Given the description of an element on the screen output the (x, y) to click on. 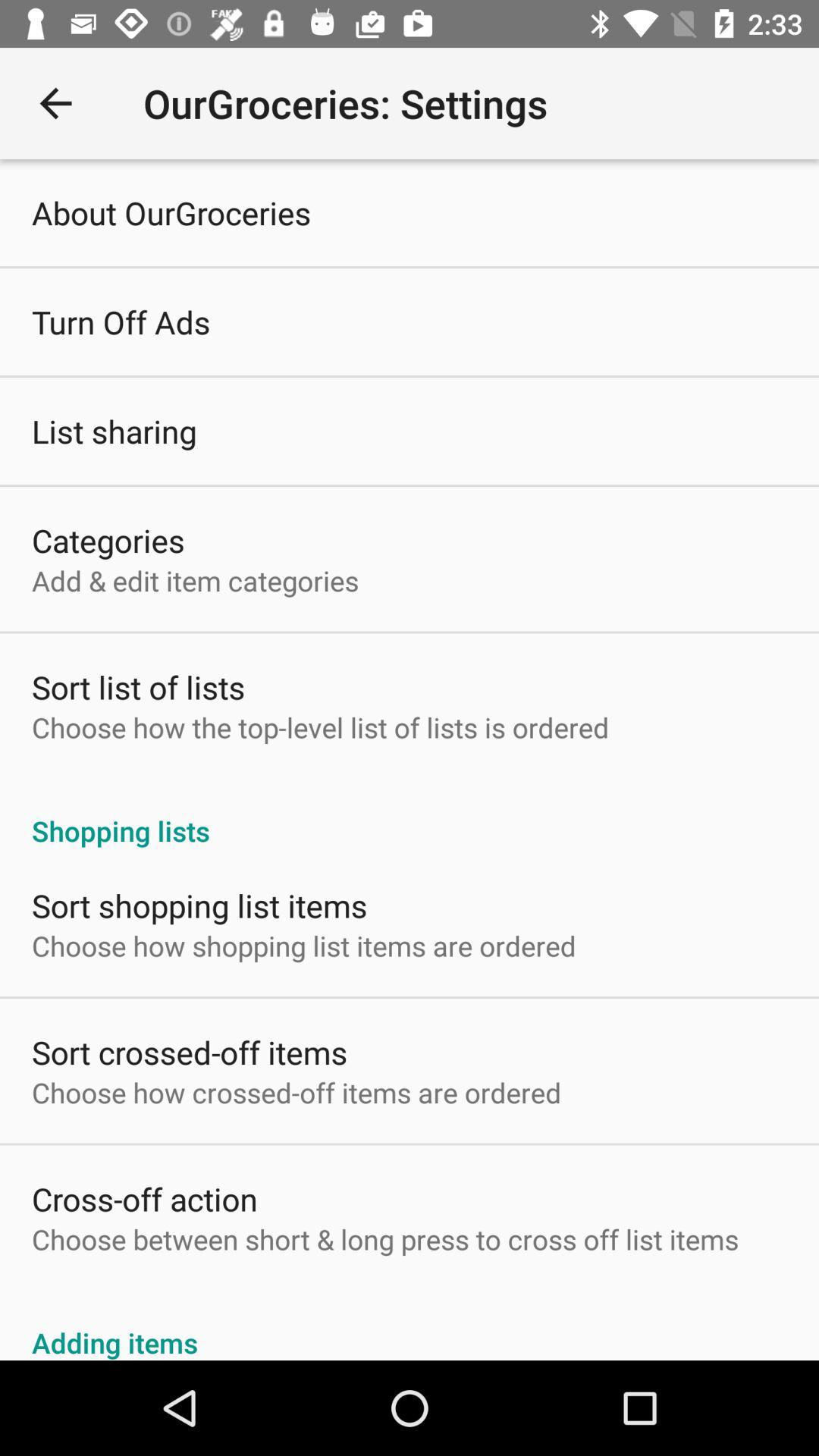
flip to adding items (409, 1326)
